Given the description of an element on the screen output the (x, y) to click on. 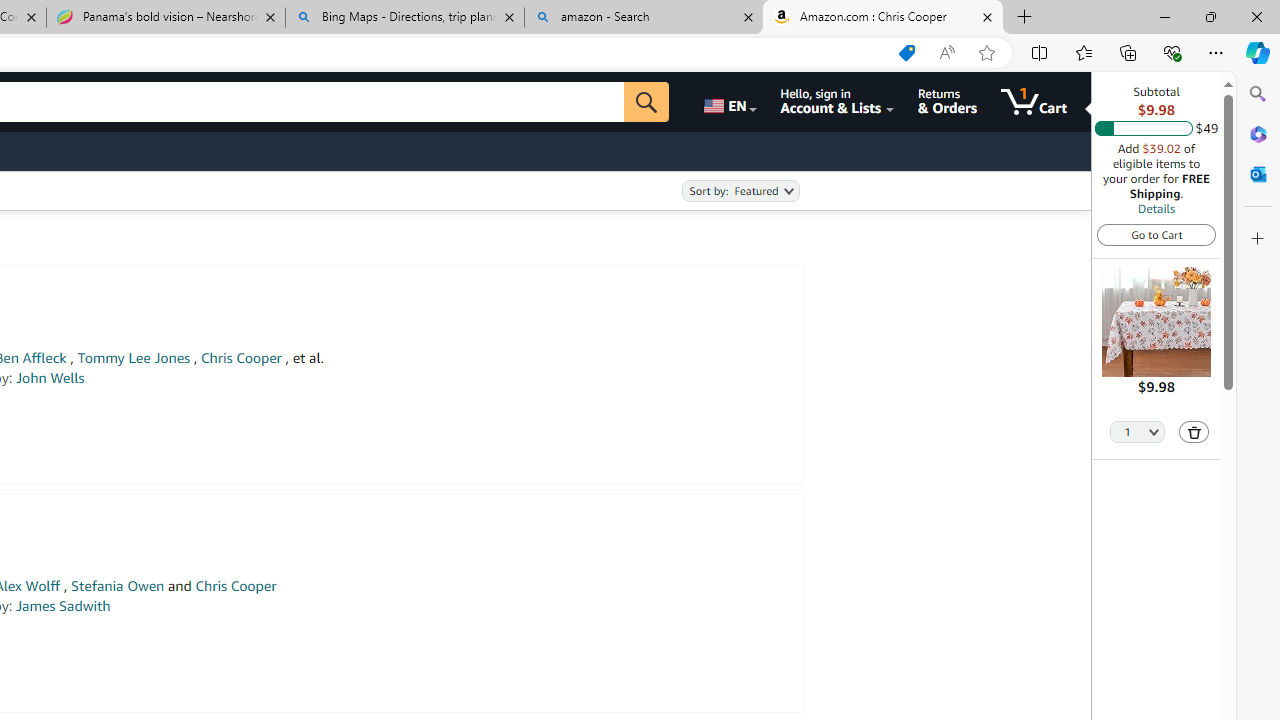
Amazon.com : Chris Cooper (883, 17)
amazon - Search (643, 17)
